Given the description of an element on the screen output the (x, y) to click on. 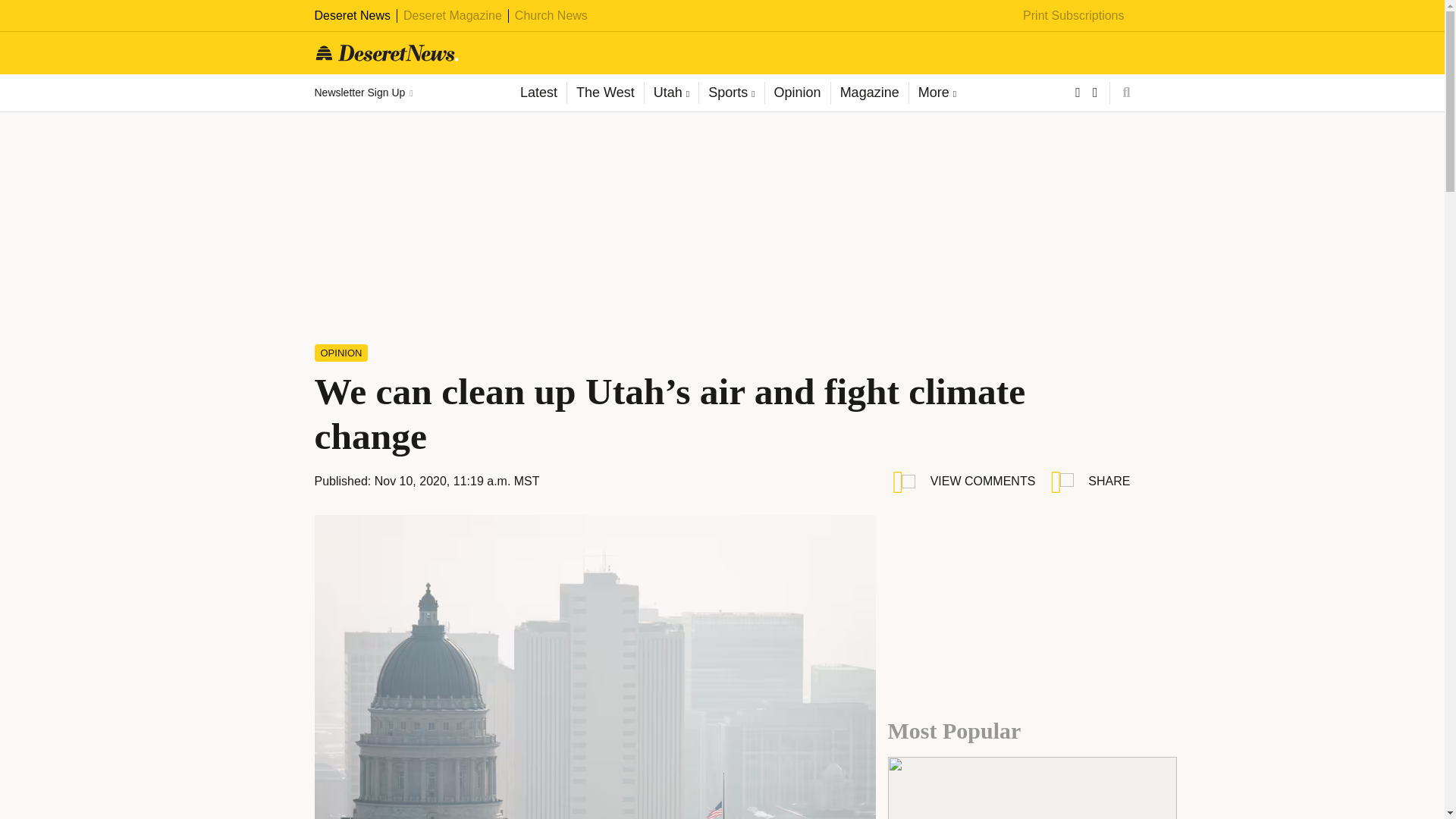
Sports (730, 92)
OPINION (341, 352)
Opinion (796, 92)
Latest (538, 92)
The West (604, 92)
Magazine (868, 92)
Utah (670, 92)
Deseret Magazine (452, 15)
Newsletter Sign Up (363, 92)
Print Subscriptions (1073, 15)
